Given the description of an element on the screen output the (x, y) to click on. 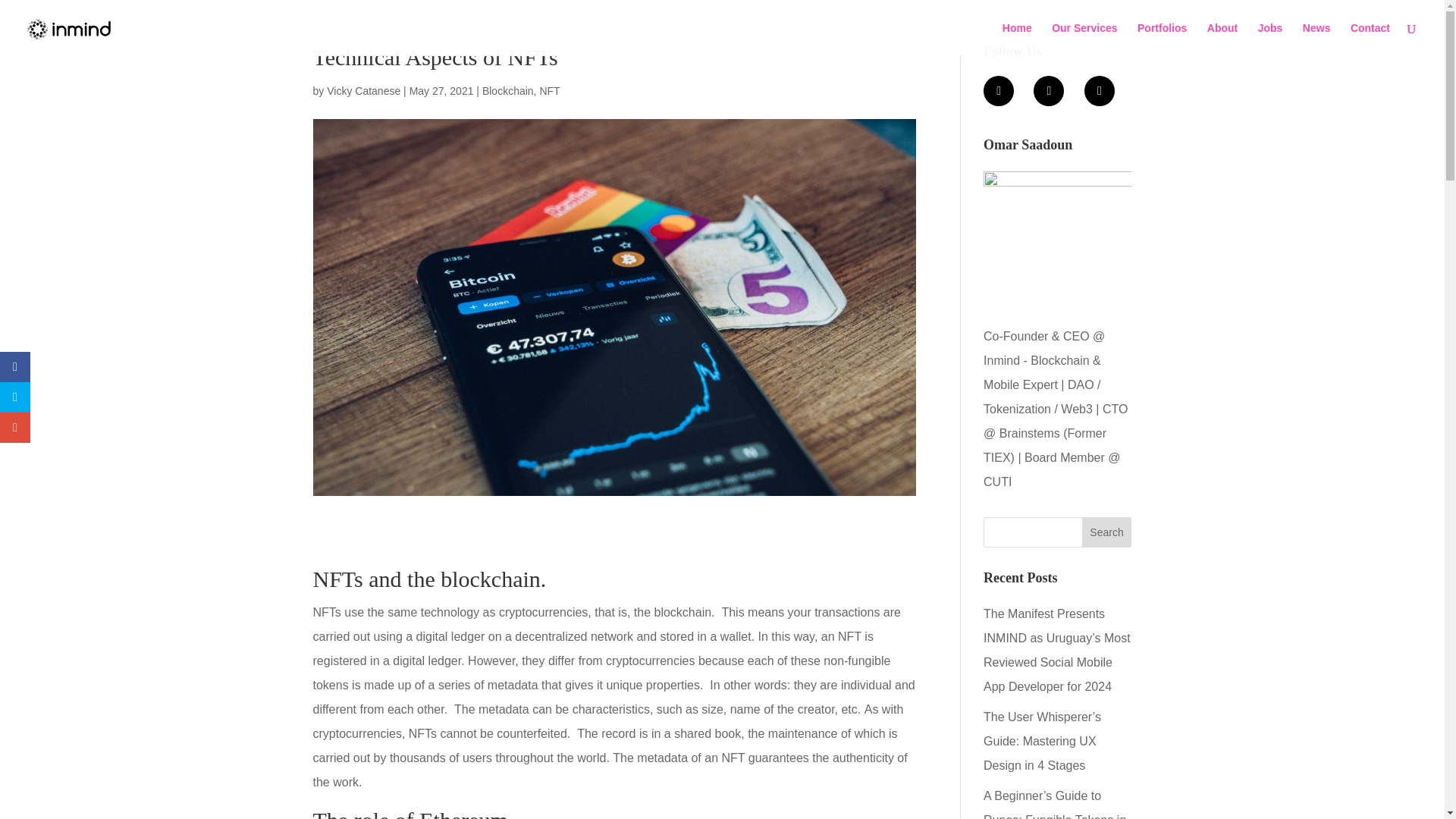
Posts by Vicky Catanese (363, 91)
Search (1106, 531)
About (1222, 39)
NFT (548, 91)
Blockchain (507, 91)
Contact (1370, 39)
Our Services (1083, 39)
Search (1106, 531)
Vicky Catanese (363, 91)
Portfolios (1161, 39)
